Given the description of an element on the screen output the (x, y) to click on. 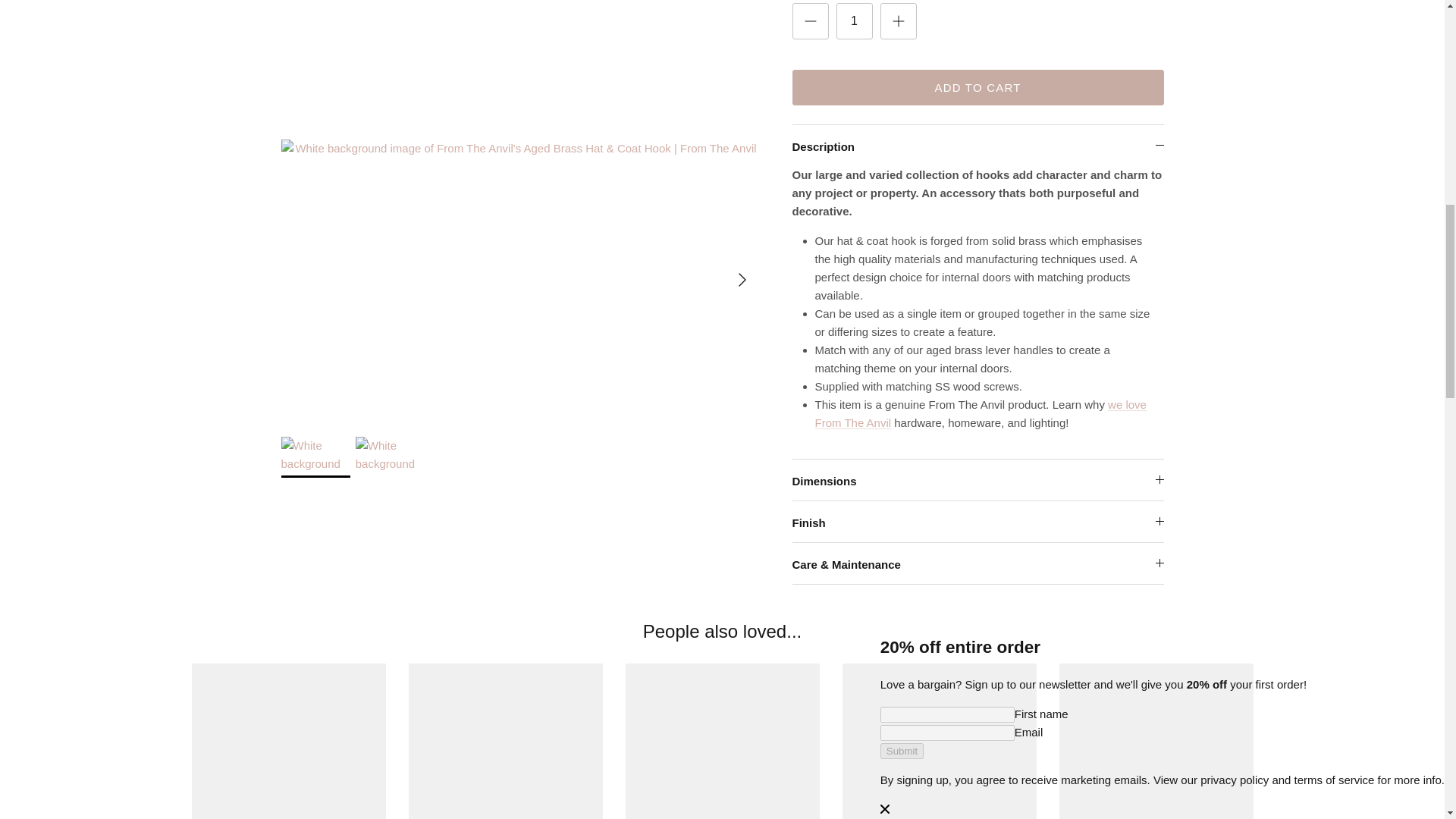
1 (853, 0)
